Given the description of an element on the screen output the (x, y) to click on. 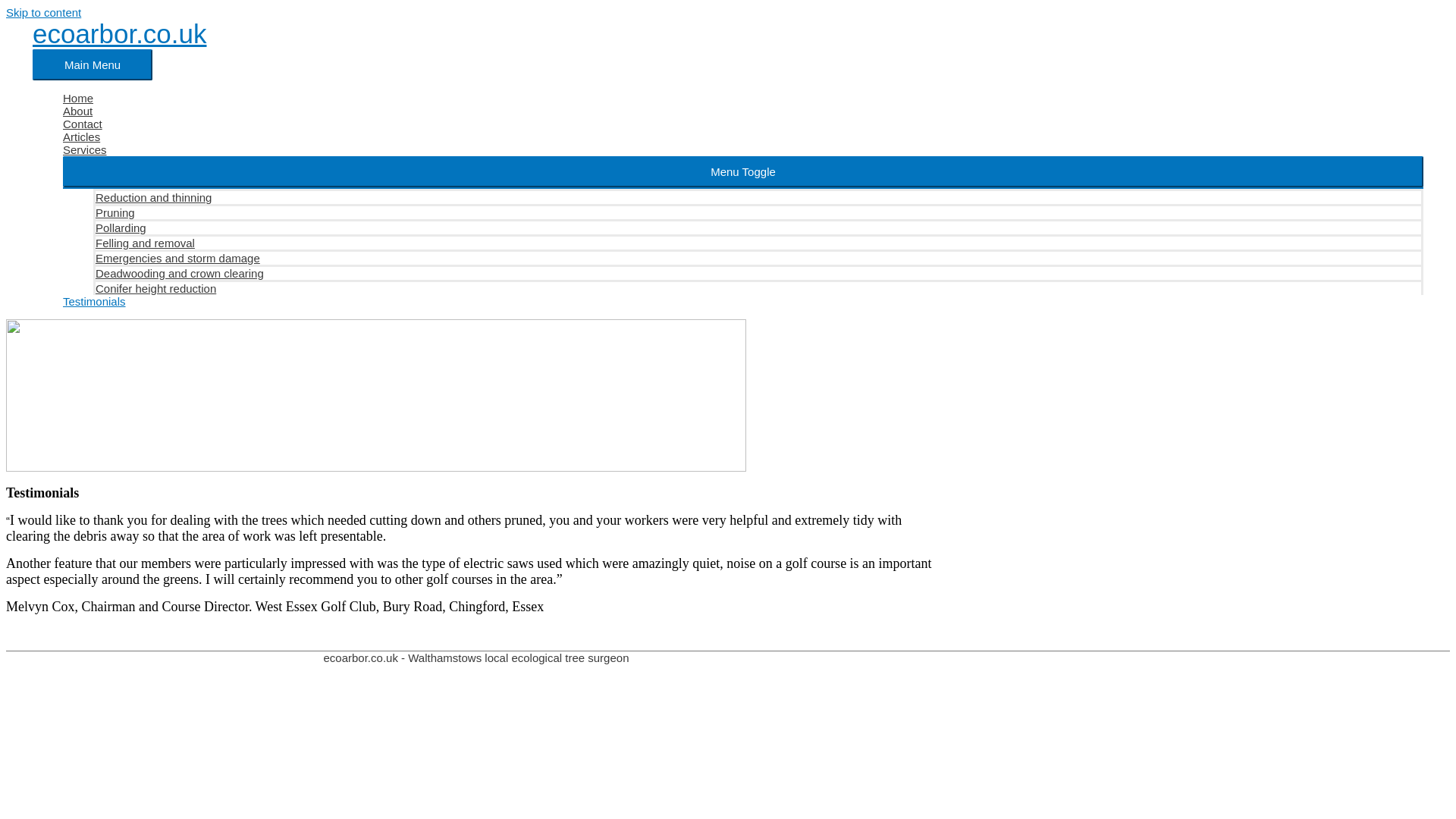
Pruning (758, 211)
Main Menu (92, 64)
Deadwooding and crown clearing (758, 272)
